Given the description of an element on the screen output the (x, y) to click on. 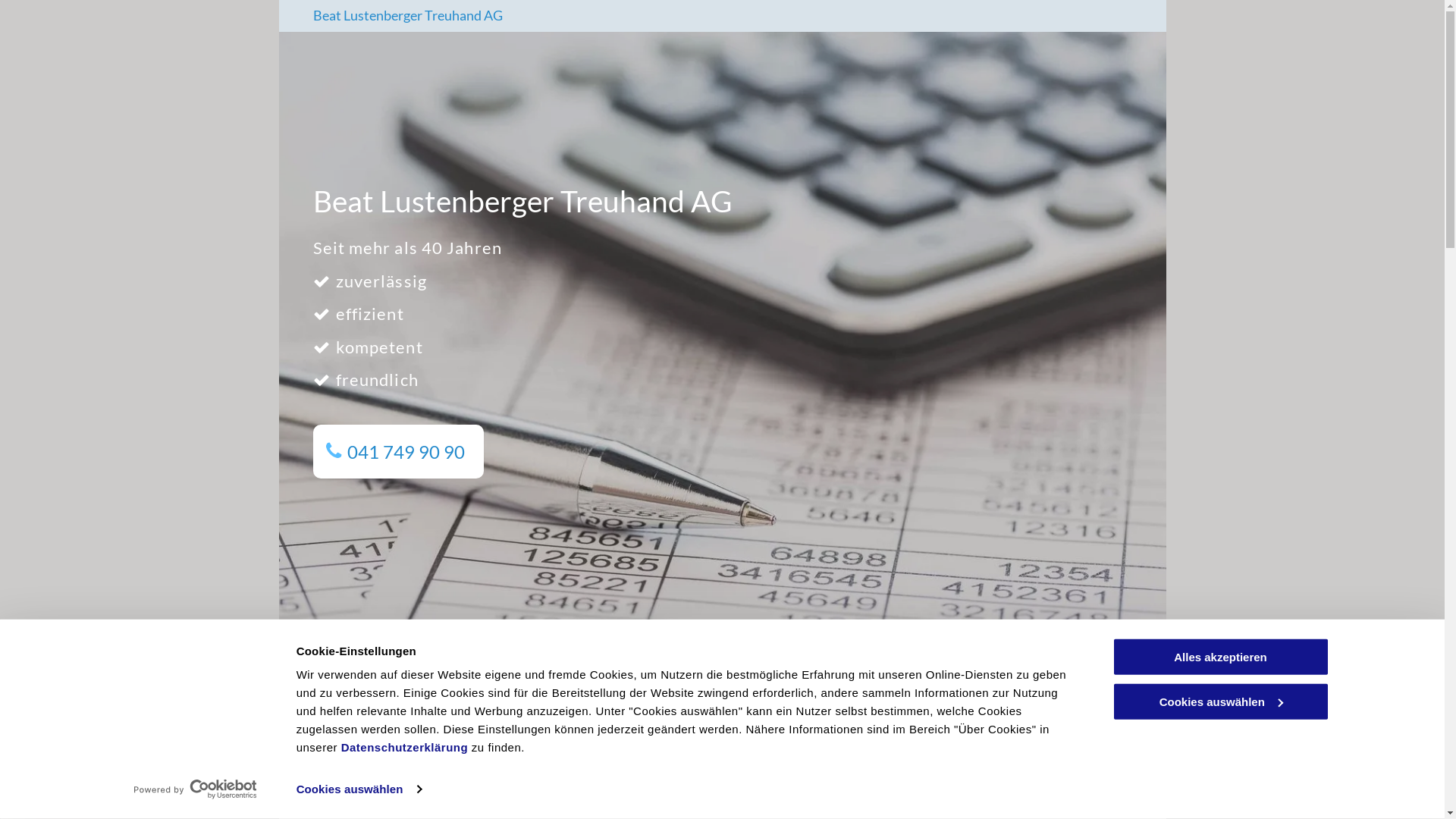
Beat Lustenberger Treuhand AG Element type: text (407, 14)
041 749 90 90 Element type: text (397, 451)
Alles akzeptieren Element type: text (1219, 656)
